Given the description of an element on the screen output the (x, y) to click on. 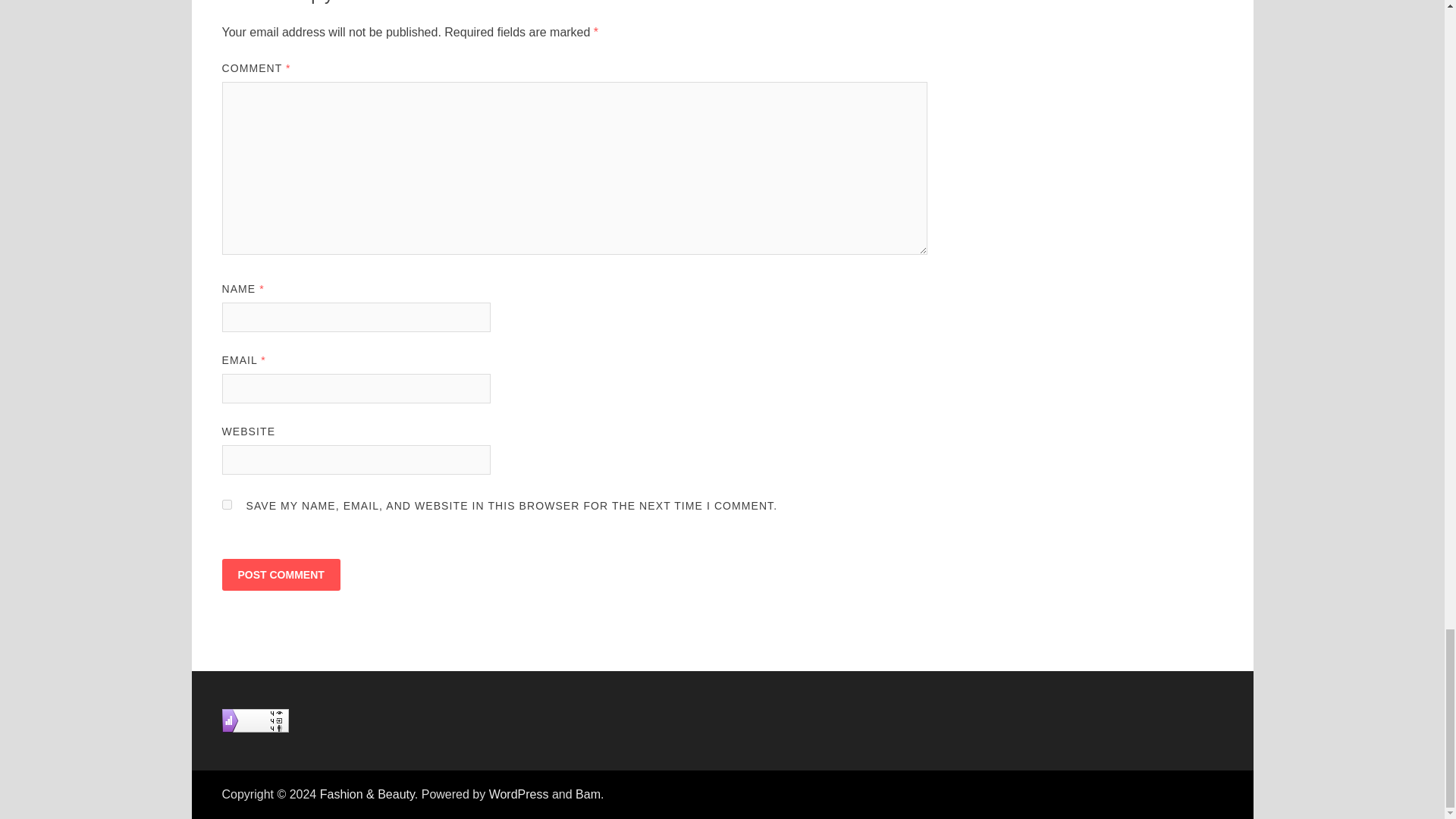
WordPress (518, 793)
yes (226, 504)
Post Comment (280, 574)
Post Comment (280, 574)
Bam (587, 793)
